Given the description of an element on the screen output the (x, y) to click on. 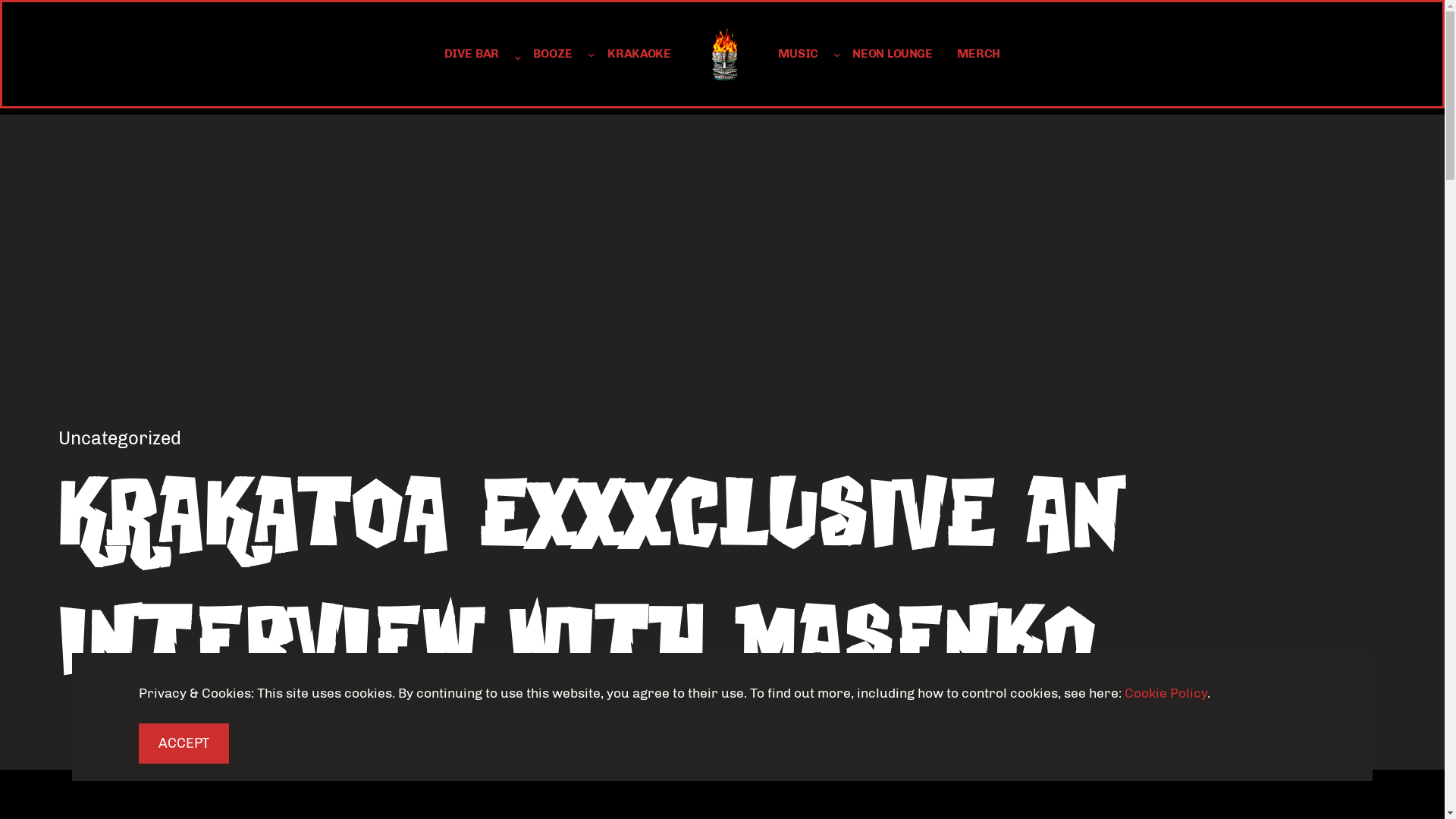
Cookie Policy Element type: text (1165, 692)
BOOZE Element type: text (552, 54)
KRAKAOKE Element type: text (639, 54)
NEON LOUNGE Element type: text (892, 54)
MERCH Element type: text (978, 54)
ACCEPT Element type: text (183, 743)
Uncategorized Element type: text (119, 437)
DIVE BAR Element type: text (471, 54)
MUSIC Element type: text (797, 54)
